Given the description of an element on the screen output the (x, y) to click on. 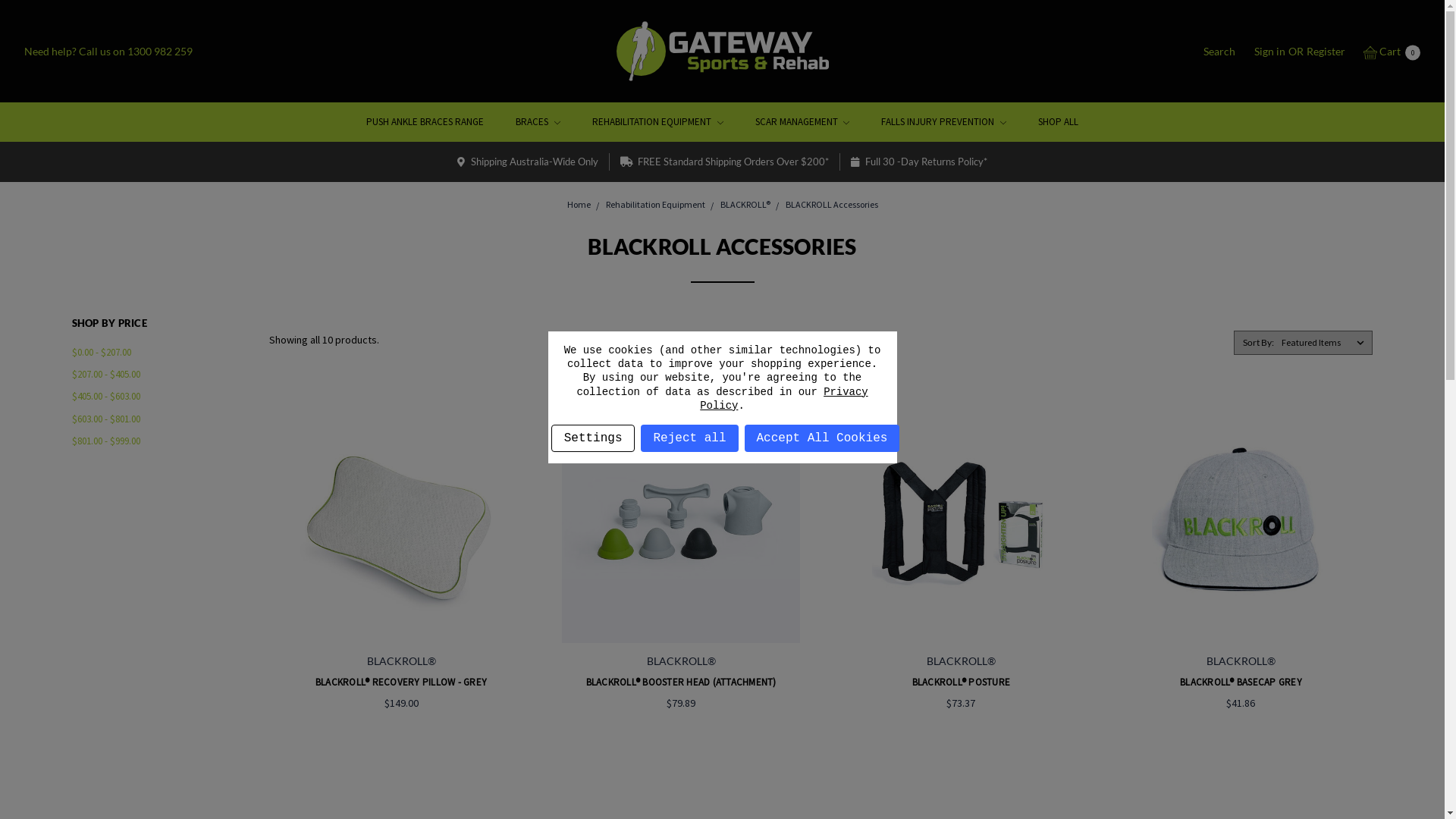
Rehabilitation Equipment Element type: text (654, 204)
$603.00 - $801.00 Element type: text (162, 418)
SCAR MANAGEMENT Element type: text (801, 121)
Full 30 -Day Returns Policy* Element type: text (918, 161)
Register Element type: text (1325, 51)
BLACKROLL Accessories Element type: text (831, 204)
Privacy Policy Element type: text (783, 398)
Accept All Cookies Element type: text (822, 437)
Sign in Element type: text (1269, 51)
SHOP ALL Element type: text (1058, 121)
$801.00 - $999.00 Element type: text (162, 440)
$207.00 - $405.00 Element type: text (162, 374)
Settings Element type: text (593, 437)
Cart 0 Element type: text (1390, 51)
Gateway Sports & Rehab Element type: hover (721, 51)
Need help? Call us on 1300 982 259 Element type: text (107, 51)
Search Element type: text (1219, 51)
Home Element type: text (578, 204)
$405.00 - $603.00 Element type: text (162, 396)
$0.00 - $207.00 Element type: text (162, 352)
REHABILITATION EQUIPMENT Element type: text (657, 121)
FALLS INJURY PREVENTION Element type: text (943, 121)
Reject all Element type: text (688, 437)
FREE Standard Shipping Orders Over $200* Element type: text (724, 161)
PUSH ANKLE BRACES RANGE Element type: text (424, 121)
BRACES Element type: text (537, 121)
